Given the description of an element on the screen output the (x, y) to click on. 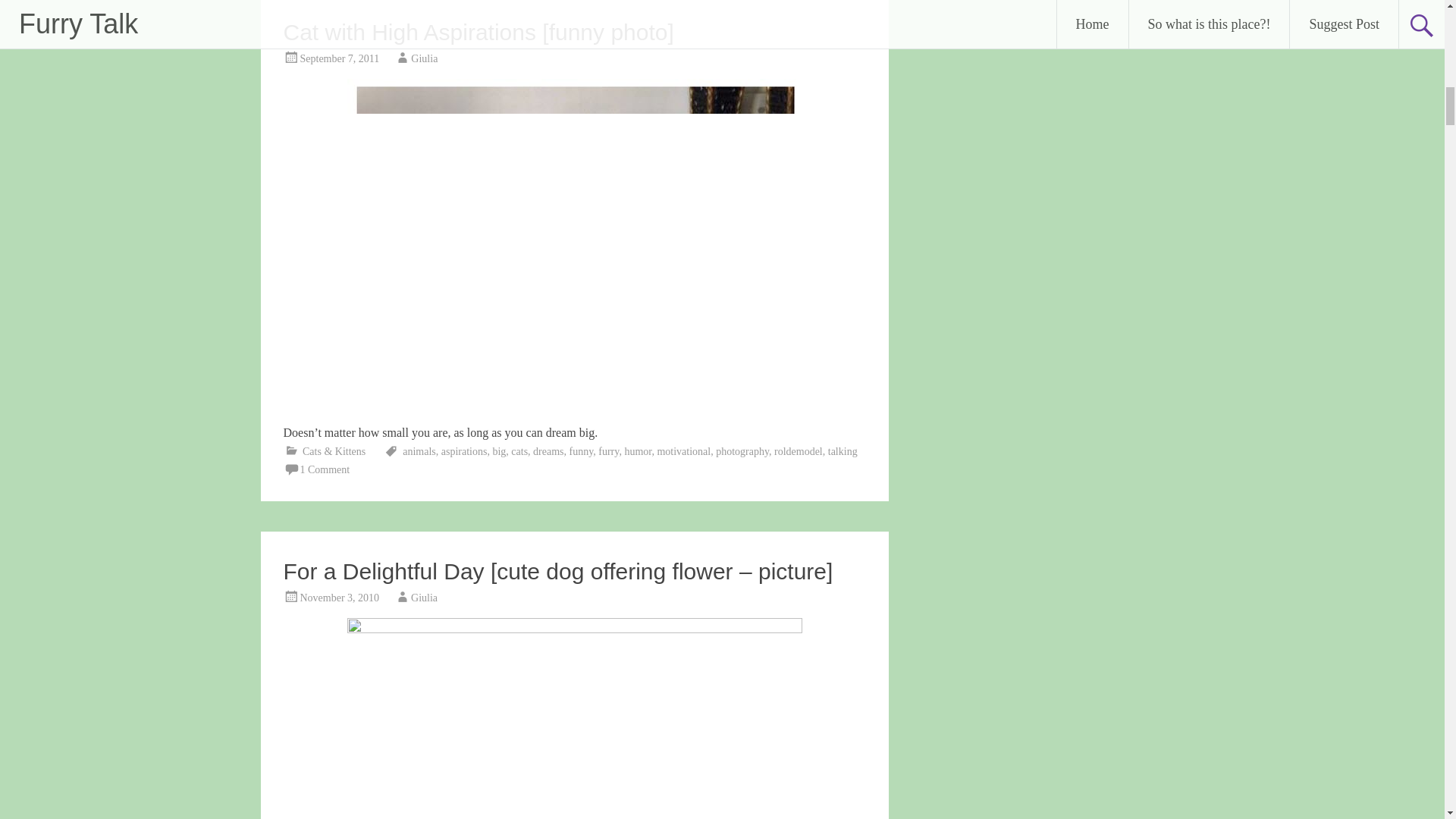
big (498, 451)
September 7, 2011 (339, 58)
animals (419, 451)
Giulia (424, 58)
aspirations (464, 451)
cats (519, 451)
